Given the description of an element on the screen output the (x, y) to click on. 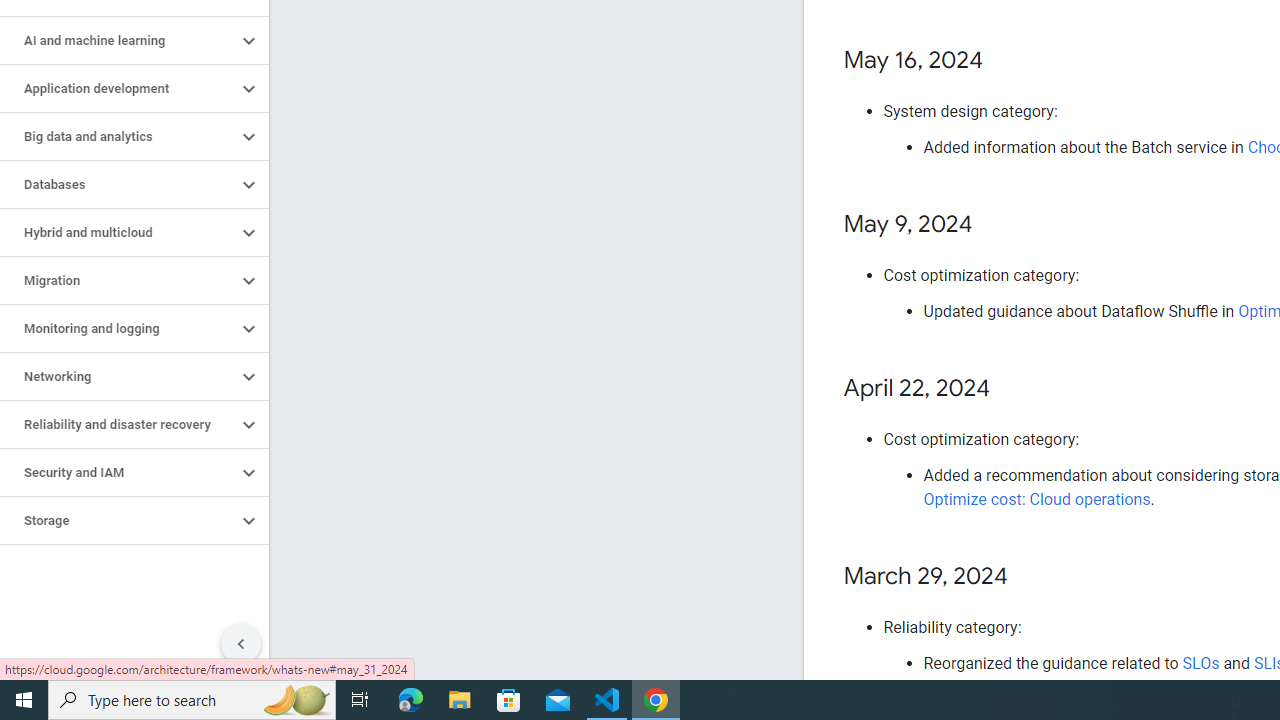
Copy link to this section: May 9, 2024 (991, 225)
SLOs (1200, 663)
Migration (118, 281)
Application development (118, 88)
Big data and analytics (118, 137)
Storage (118, 520)
Networking (118, 376)
Databases (118, 184)
Security and IAM (118, 472)
Copy link to this section: May 16, 2024 (1003, 61)
Reliability and disaster recovery (118, 425)
Monitoring and logging (118, 328)
Optimize cost: Cloud operations (1036, 499)
Hybrid and multicloud (118, 232)
